Given the description of an element on the screen output the (x, y) to click on. 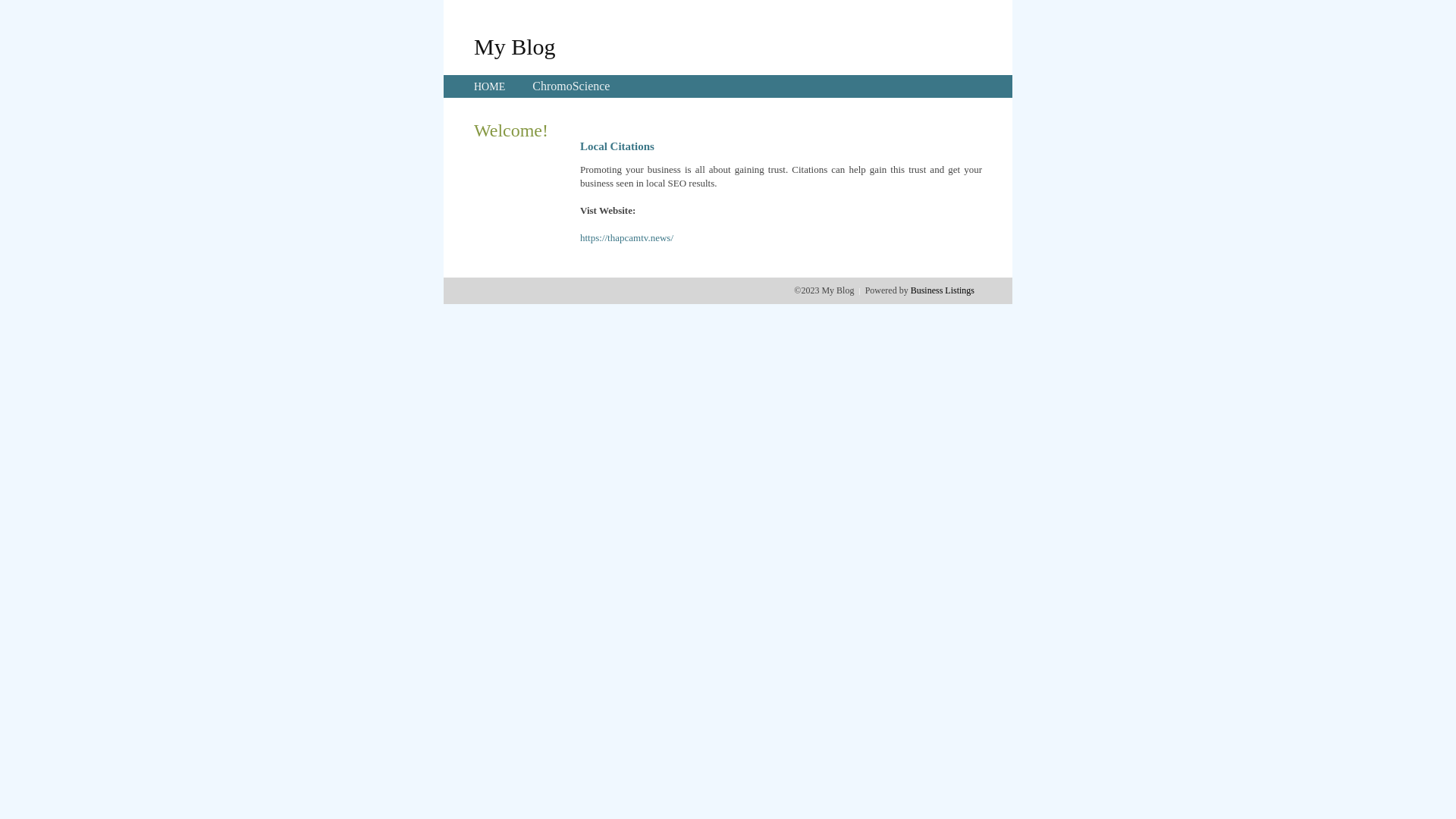
My Blog Element type: text (514, 46)
ChromoScience Element type: text (570, 85)
HOME Element type: text (489, 86)
Business Listings Element type: text (942, 290)
https://thapcamtv.news/ Element type: text (626, 237)
